Given the description of an element on the screen output the (x, y) to click on. 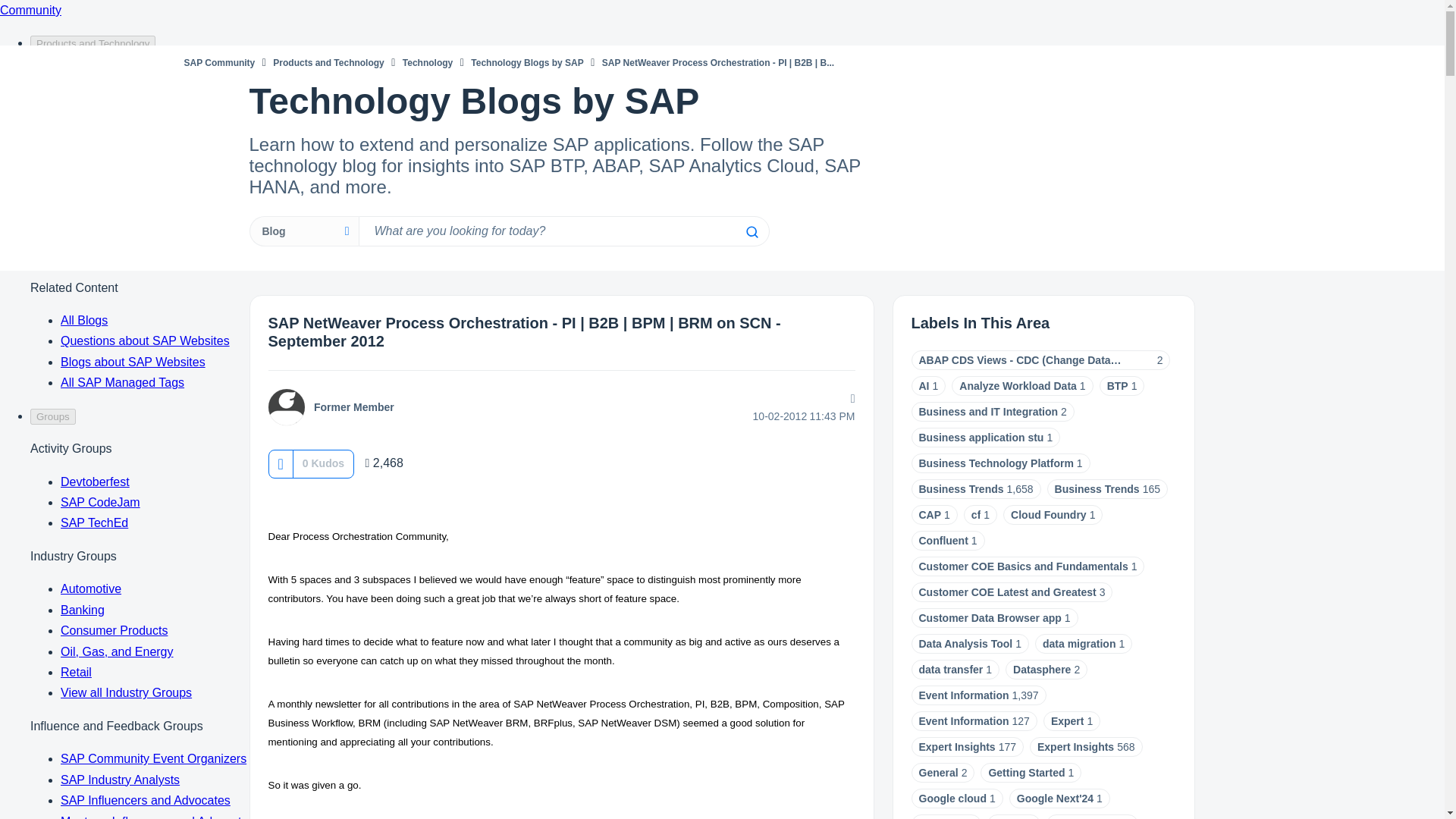
Technology (427, 62)
Search Granularity (303, 231)
Search (563, 231)
Technology Blogs by SAP (526, 62)
Search (750, 232)
Products and Technology (328, 62)
SAP Community (218, 62)
The total number of kudos this post has received. (323, 462)
Search (750, 232)
Click here to give kudos to this post. (279, 463)
